Given the description of an element on the screen output the (x, y) to click on. 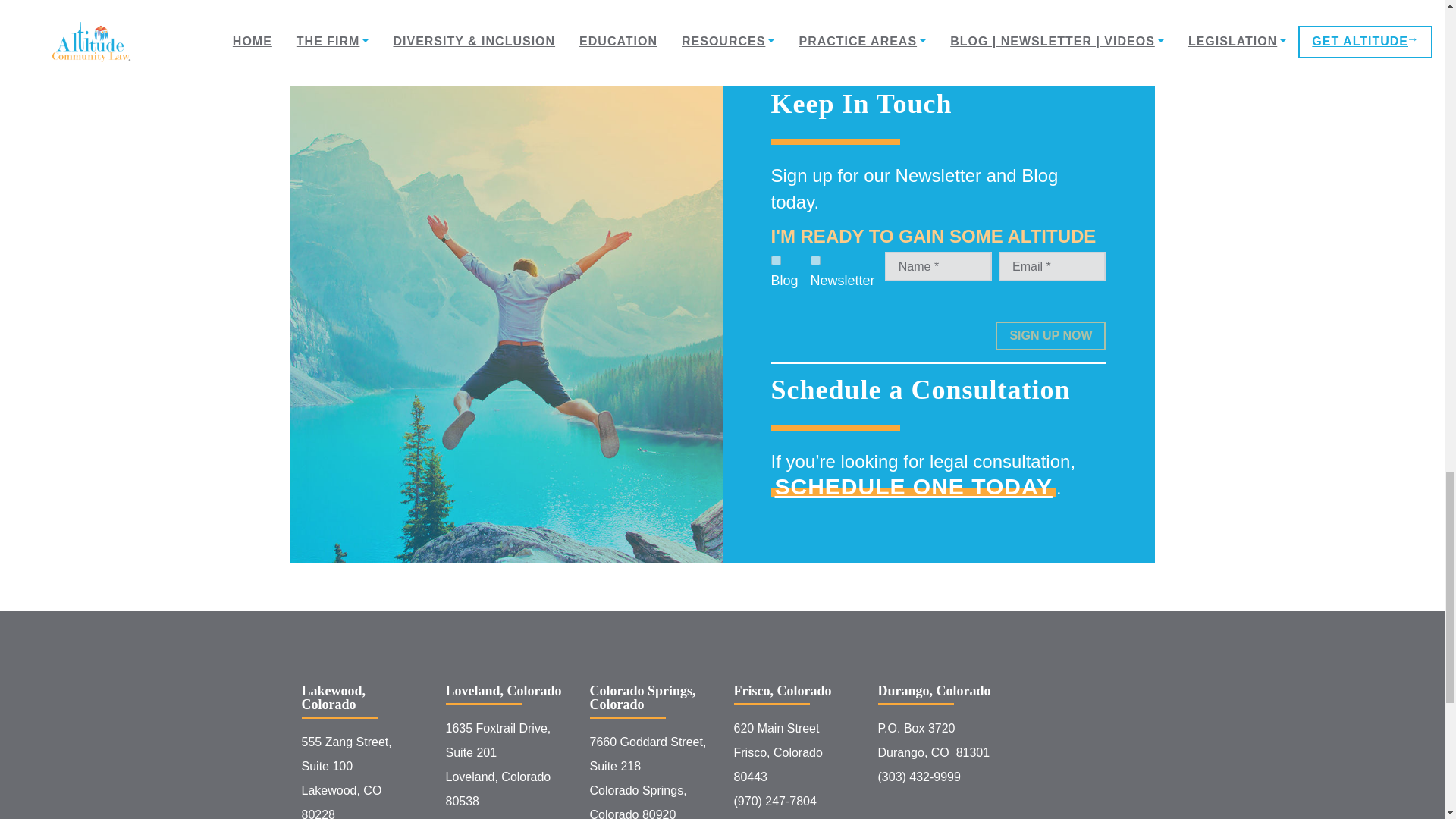
Blog (775, 260)
Sign Up Now (1050, 336)
Newsletter (815, 260)
